Given the description of an element on the screen output the (x, y) to click on. 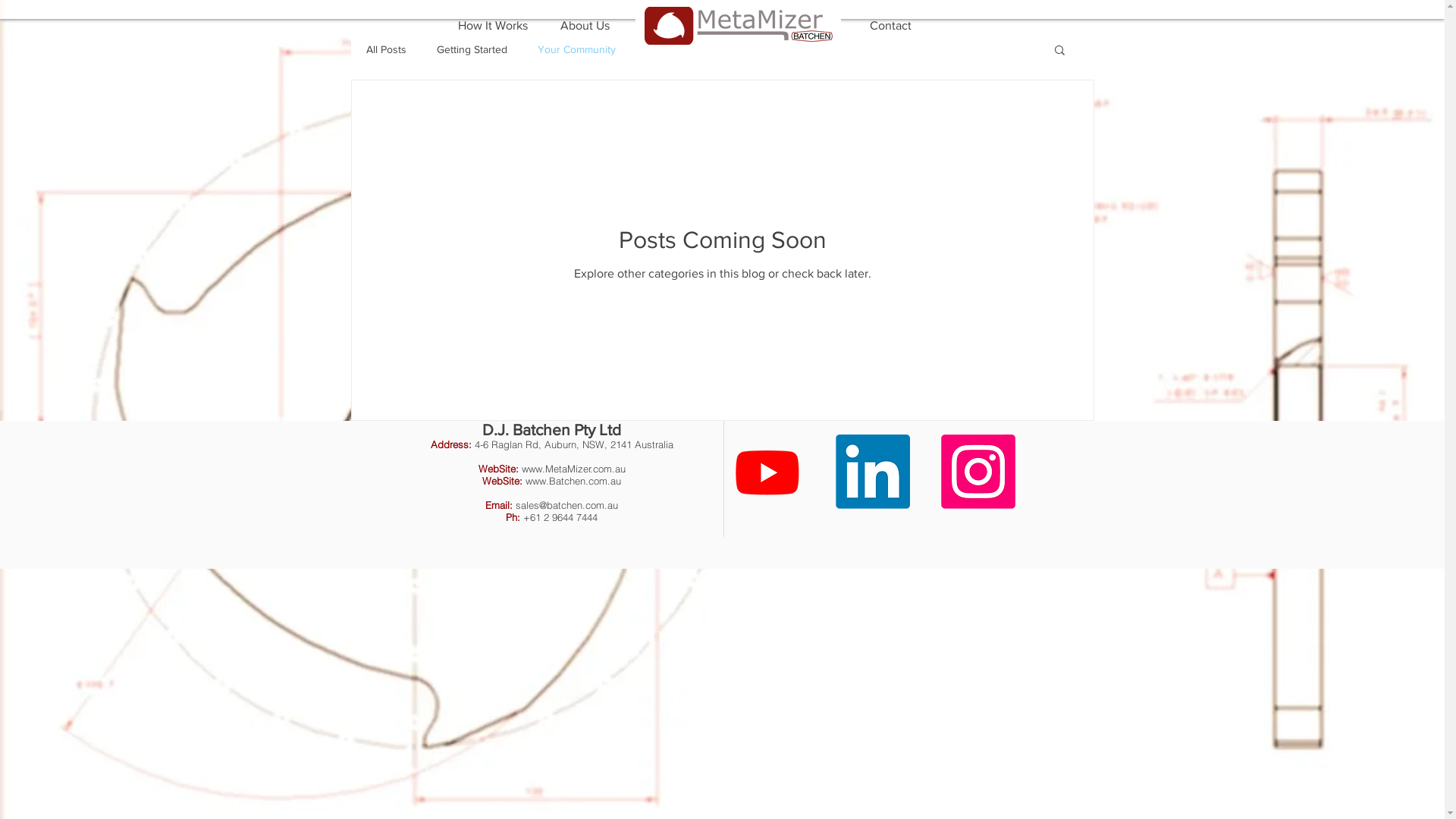
All Posts Element type: text (385, 49)
How It Works Element type: text (491, 25)
www.Batchen.com.au Element type: text (573, 480)
Getting Started Element type: text (471, 49)
About Us Element type: text (584, 25)
How It Works Element type: text (705, 25)
Contact Element type: text (676, 25)
sales@batchen.com.au Element type: text (566, 504)
Your Community Element type: text (575, 49)
About Us Element type: text (798, 25)
Contact Element type: text (890, 25)
